Given the description of an element on the screen output the (x, y) to click on. 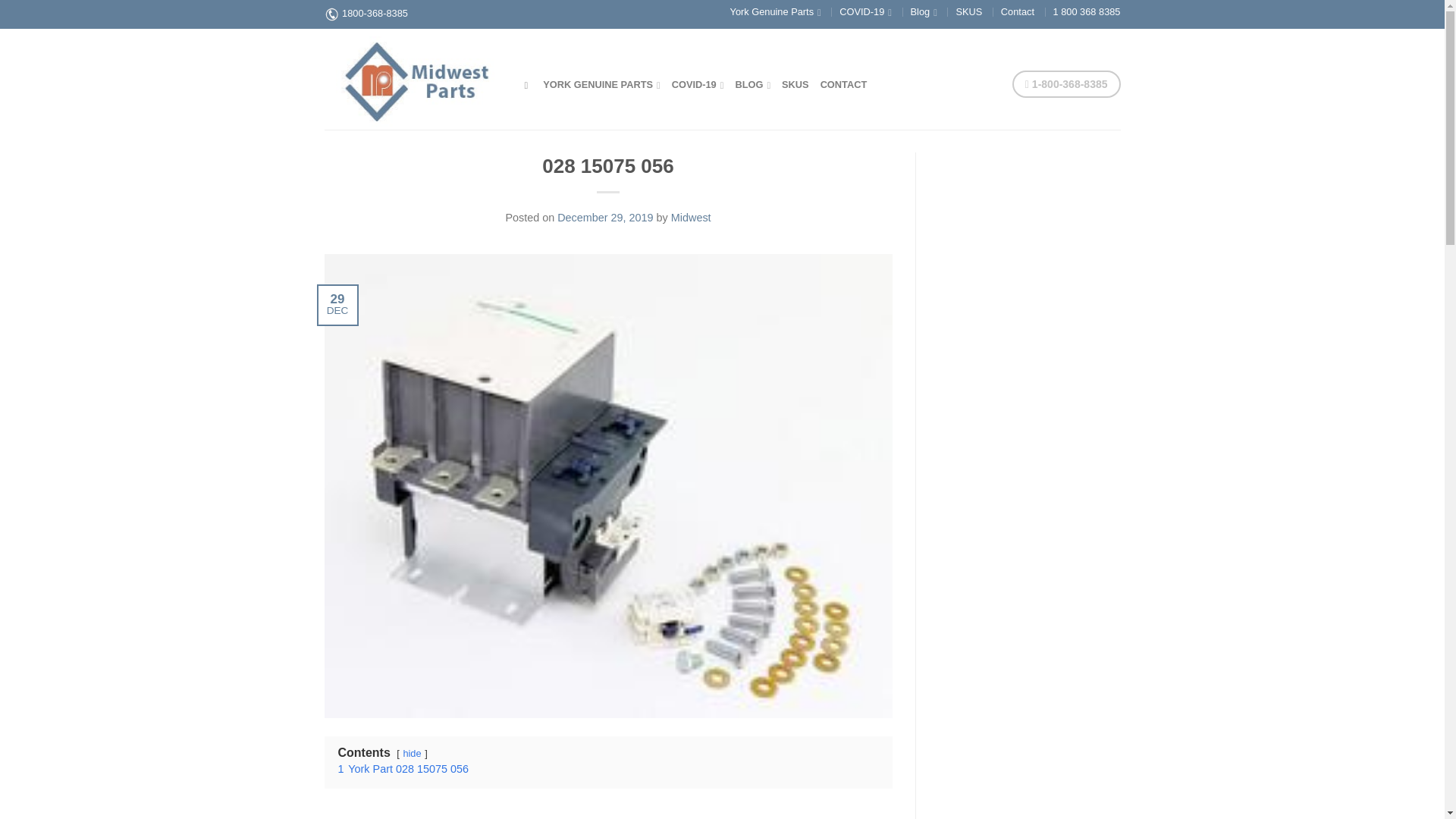
1 800 368 8385 (1086, 11)
Blog (924, 11)
YORK GENUINE PARTS (602, 84)
COVID-19 (865, 11)
COVID-19 (697, 84)
BLOG (752, 84)
York Genuine Parts (775, 11)
SKUS (968, 11)
Midwest Parts Center - York Genuine Parts (413, 78)
Contact (1017, 11)
1800-368-8385 (374, 12)
